Given the description of an element on the screen output the (x, y) to click on. 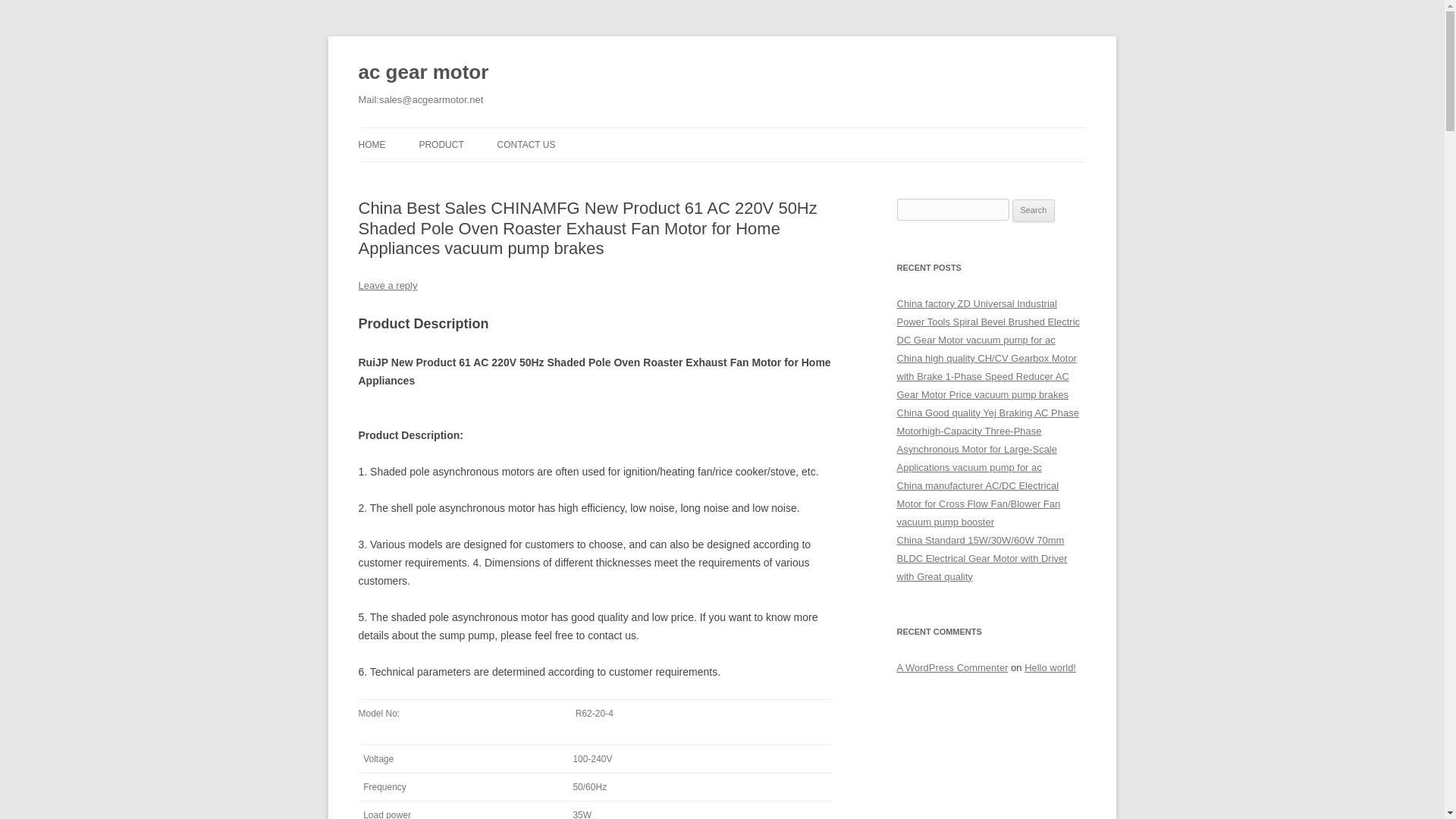
Search (1033, 210)
ac gear motor (422, 72)
MORE ACGEARMOTOR (494, 176)
PRODUCT (441, 144)
Leave a reply (387, 285)
ac gear motor (422, 72)
CONTACT US (526, 144)
